Given the description of an element on the screen output the (x, y) to click on. 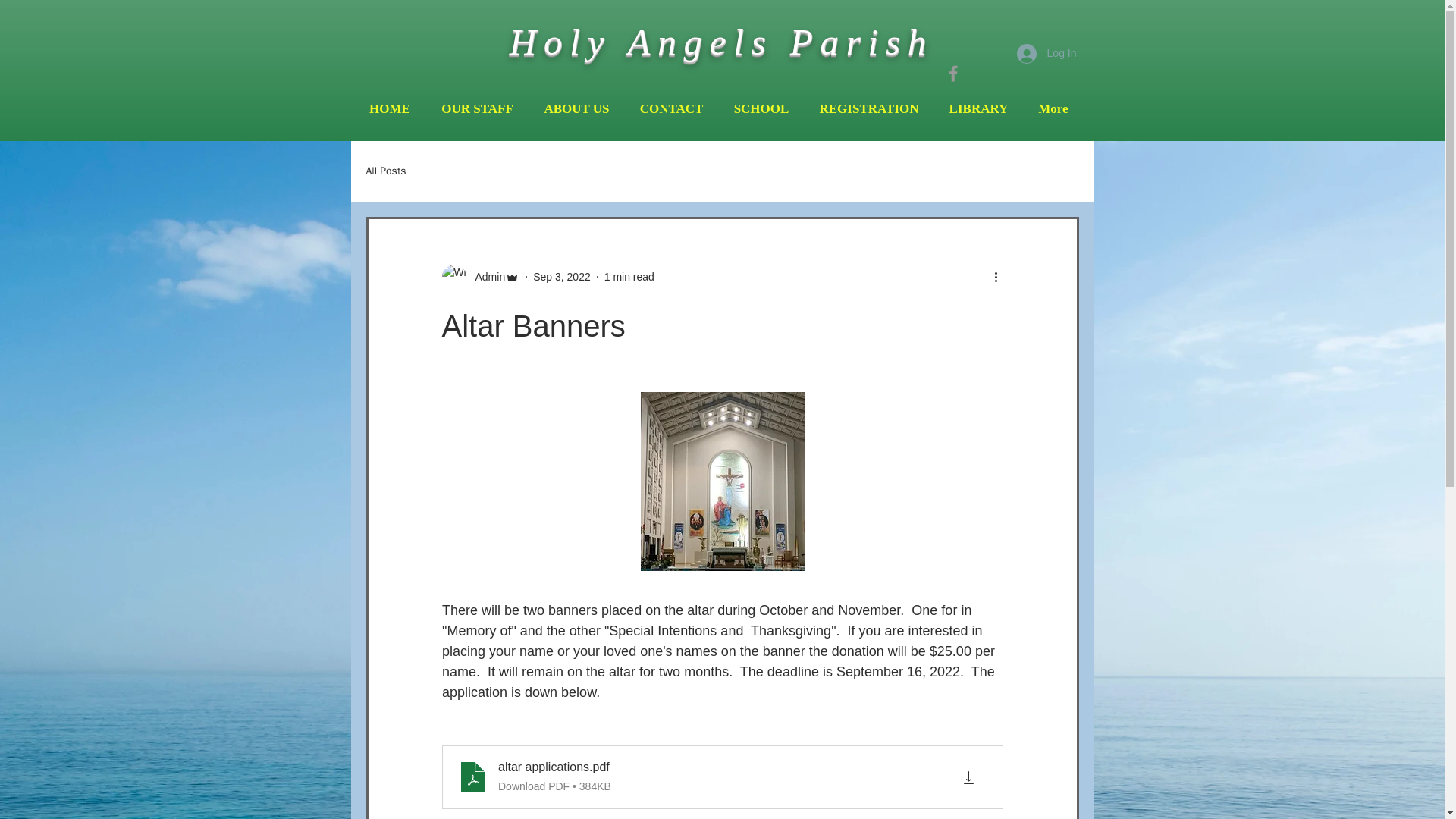
CONTACT (671, 108)
Admin (485, 276)
All Posts (385, 171)
SCHOOL (762, 108)
1 min read (628, 275)
HOME (389, 108)
Log In (1046, 53)
REGISTRATION (868, 108)
Admin (480, 276)
OUR STAFF (477, 108)
